Given the description of an element on the screen output the (x, y) to click on. 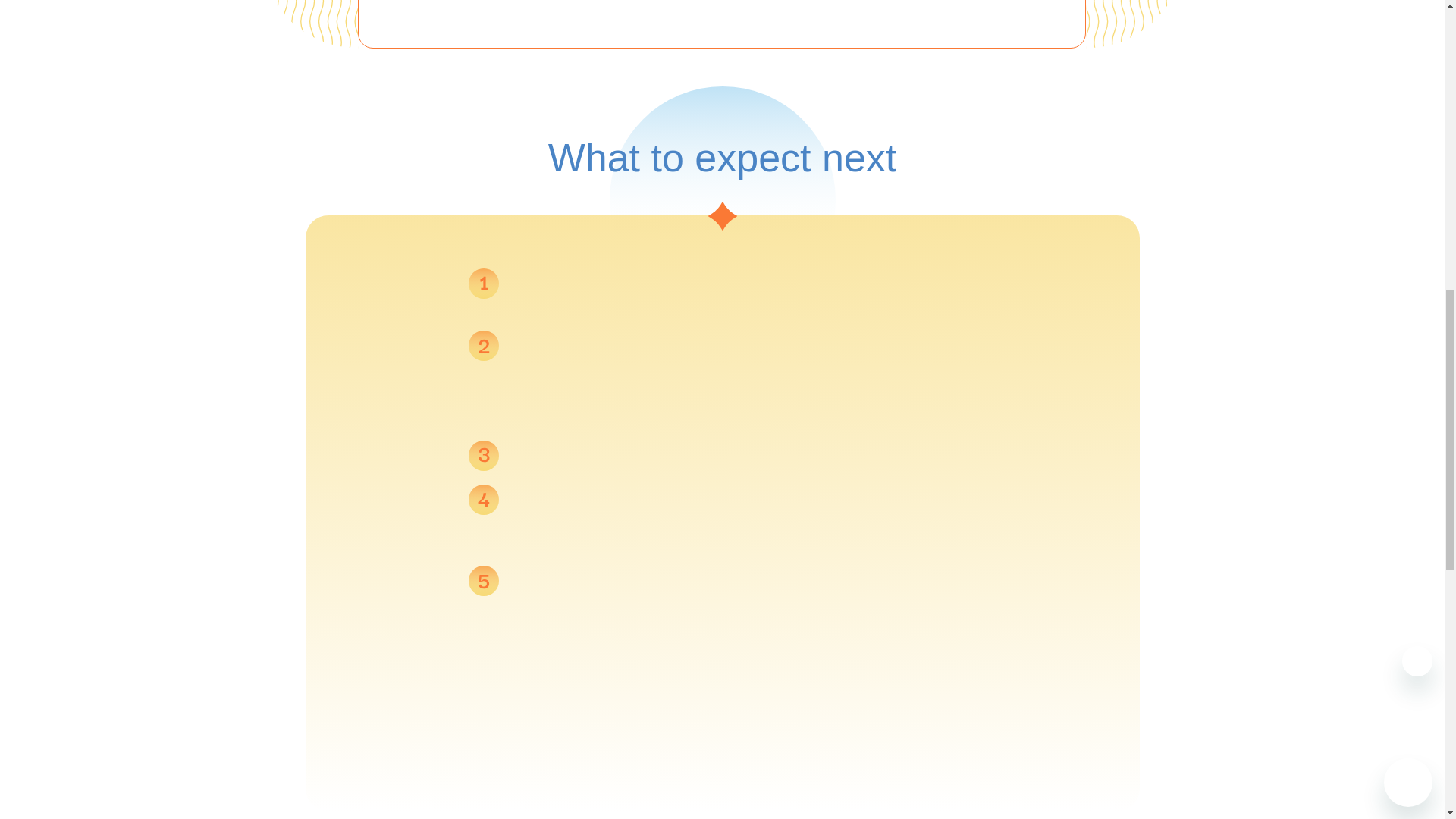
Blue-ellipse-graphic (722, 199)
half-yellow-wave-donut (1135, 24)
half-yellow-wave-donut (308, 24)
